Given the description of an element on the screen output the (x, y) to click on. 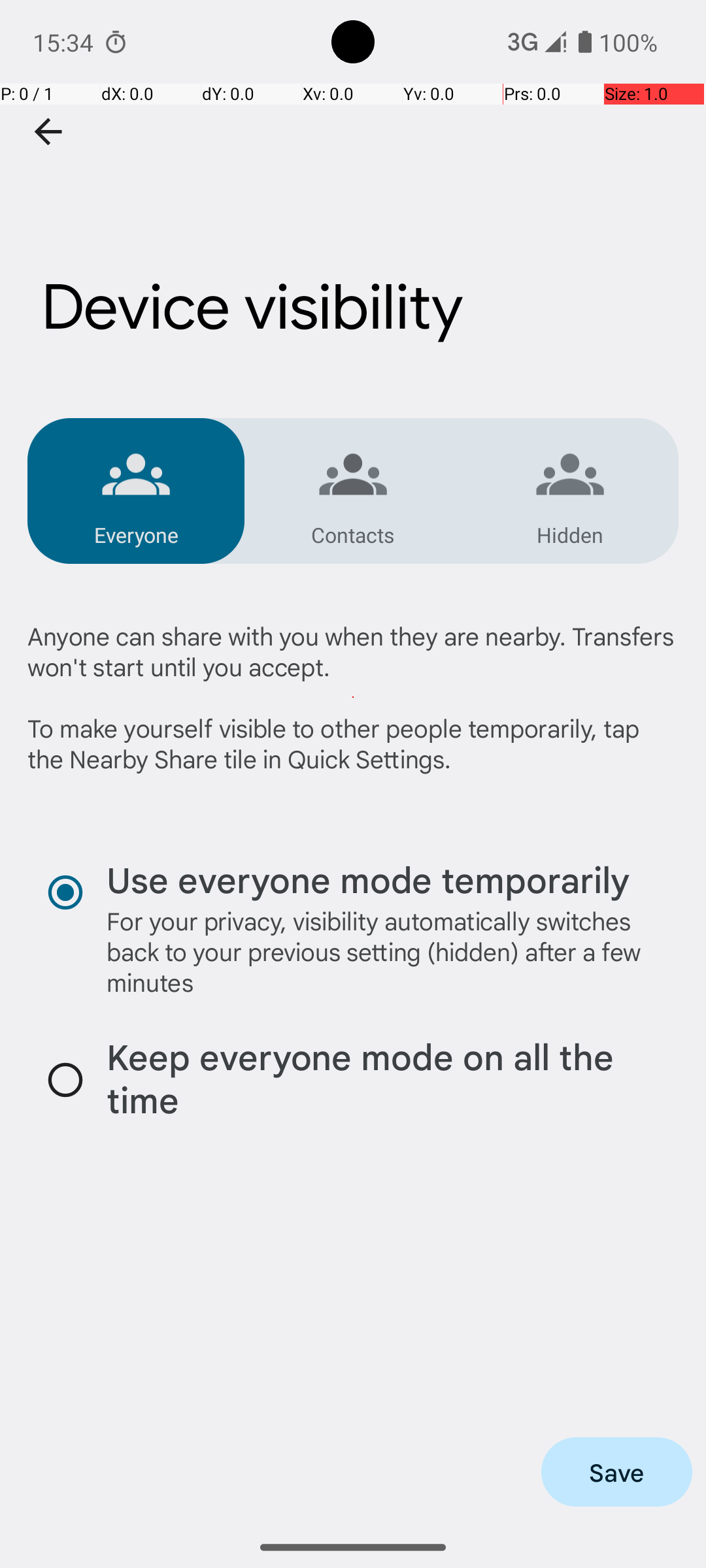
Device visibility Element type: android.widget.FrameLayout (353, 236)
Everyone Element type: android.widget.TextView (135, 534)
Hidden Element type: android.widget.TextView (569, 534)
Anyone can share with you when they are nearby. Transfers won't start until you accept.

To make yourself visible to other people temporarily, tap the Nearby Share tile in Quick Settings. Element type: android.widget.TextView (353, 696)
Use everyone mode temporarily Element type: android.widget.TextView (367, 878)
For your privacy, visibility automatically switches back to your previous setting (hidden) after a few minutes Element type: android.widget.TextView (380, 950)
Keep everyone mode on all the time Element type: android.widget.TextView (380, 1079)
